Given the description of an element on the screen output the (x, y) to click on. 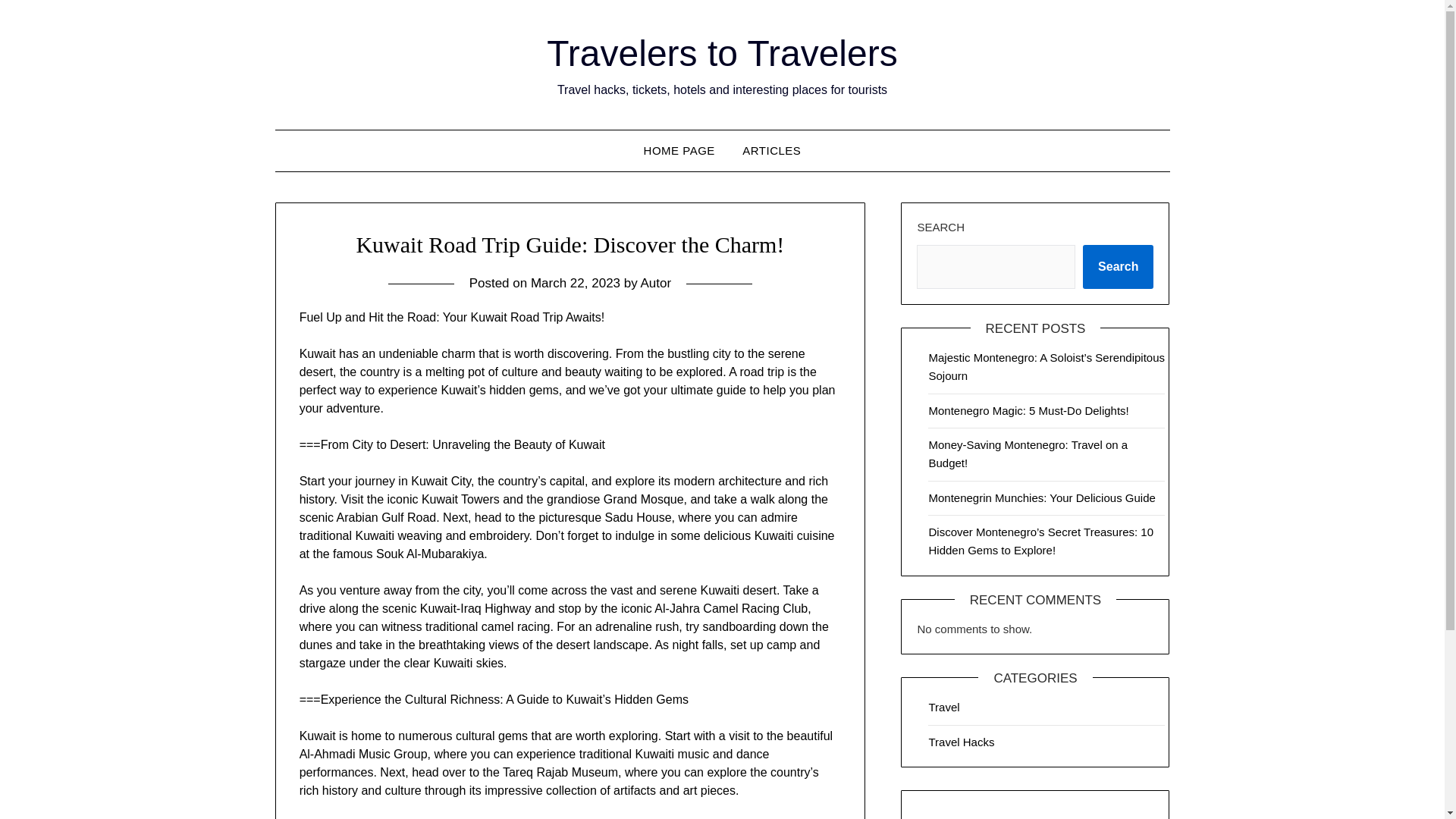
Montenegrin Munchies: Your Delicious Guide (1041, 497)
Montenegro Magic: 5 Must-Do Delights! (1028, 410)
Autor (655, 283)
Travel Hacks (961, 741)
Search (1118, 266)
ARTICLES (771, 150)
Travel (943, 707)
Travelers to Travelers (721, 53)
March 22, 2023 (575, 283)
Money-Saving Montenegro: Travel on a Budget! (1027, 453)
